Given the description of an element on the screen output the (x, y) to click on. 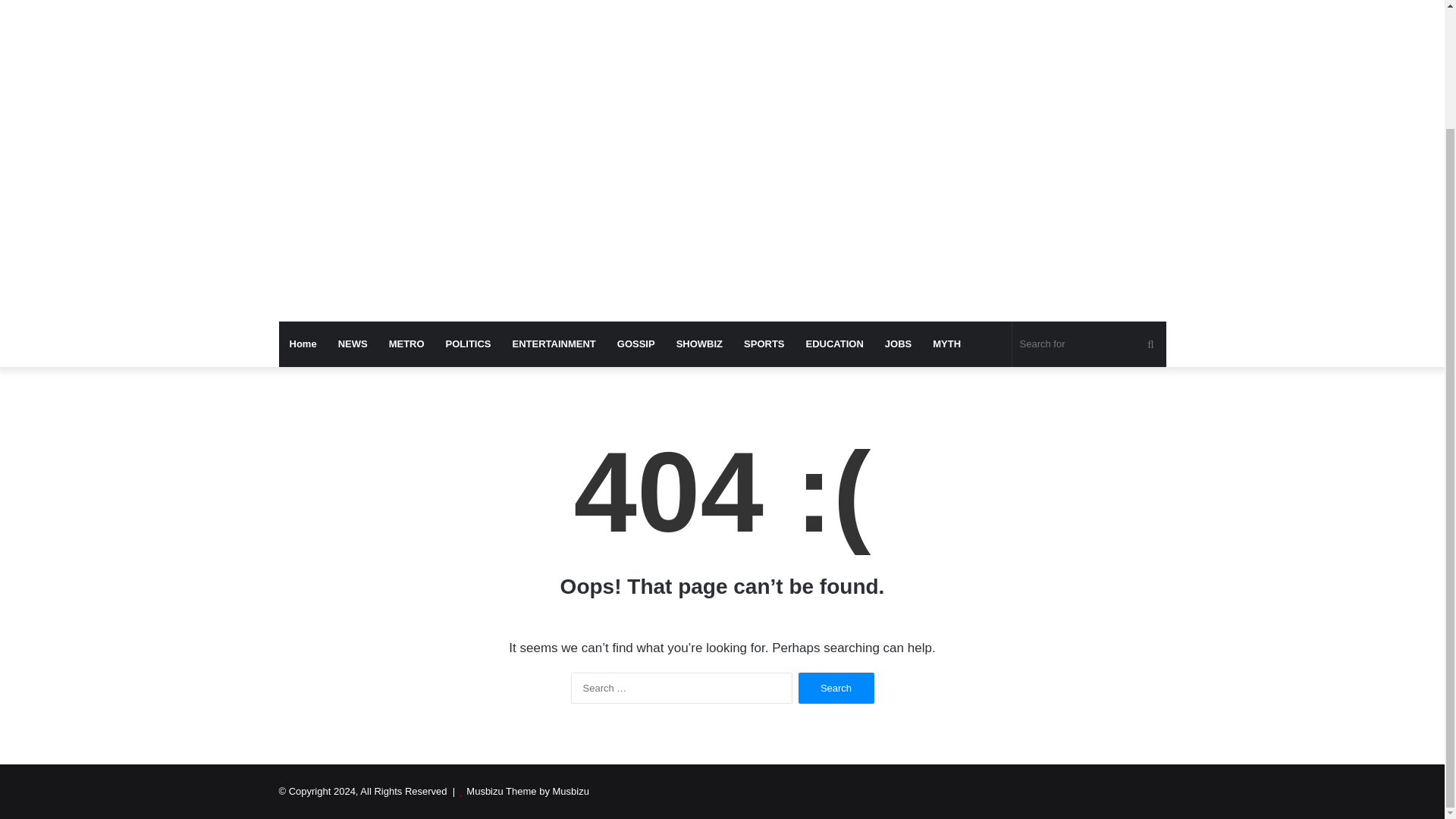
GOSSIP (636, 343)
Musbizu Theme by Musbizu (527, 790)
NEWS (352, 343)
METRO (406, 343)
Search for (1088, 343)
Search (835, 687)
ENTERTAINMENT (554, 343)
JOBS (898, 343)
Musbizu (419, 4)
